Given the description of an element on the screen output the (x, y) to click on. 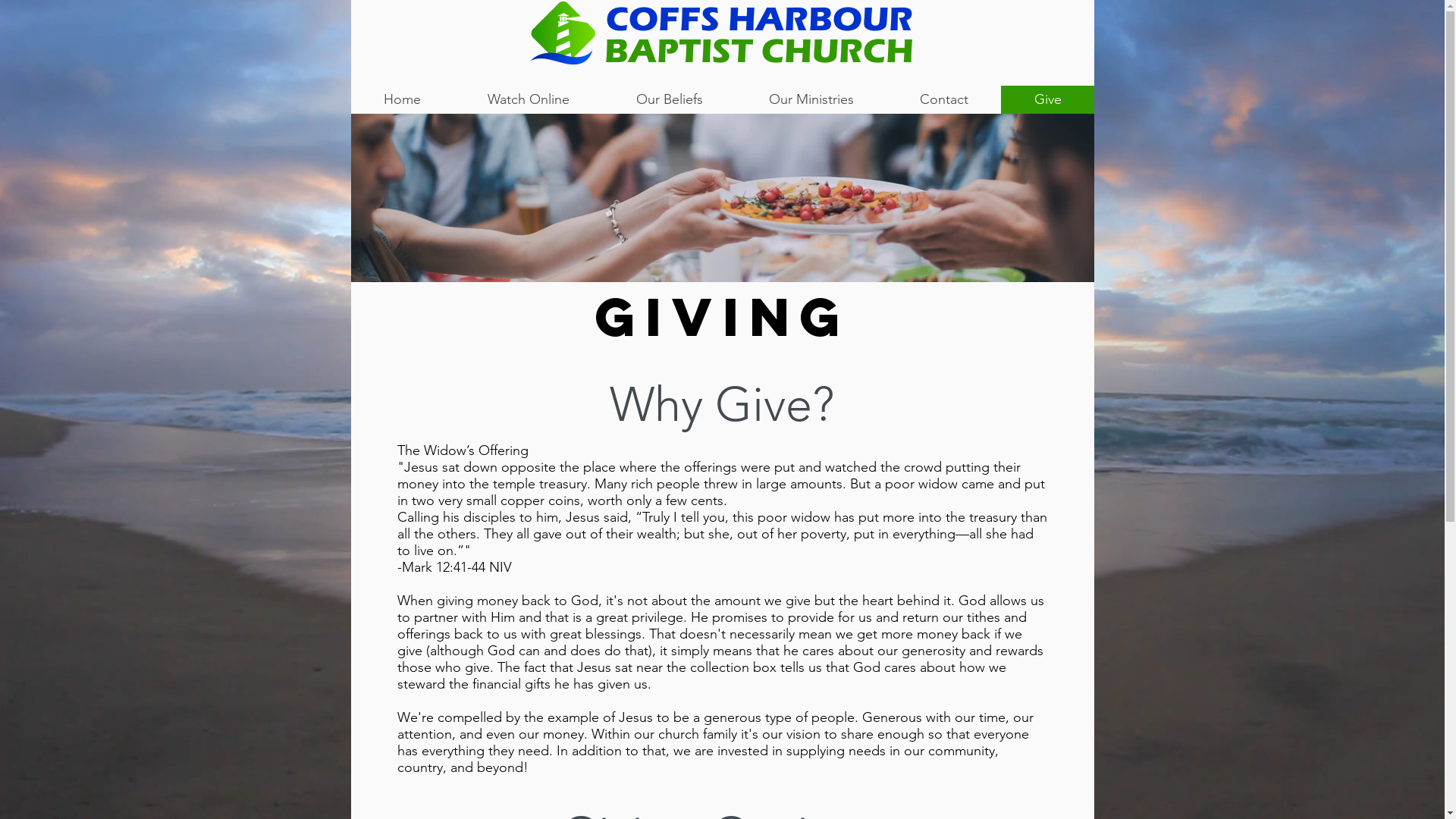
Watch Online Element type: text (527, 99)
Contact Element type: text (942, 99)
Give Element type: text (1047, 99)
Home Element type: text (401, 99)
Our Beliefs Element type: text (668, 99)
Our Ministries Element type: text (810, 99)
